Given the description of an element on the screen output the (x, y) to click on. 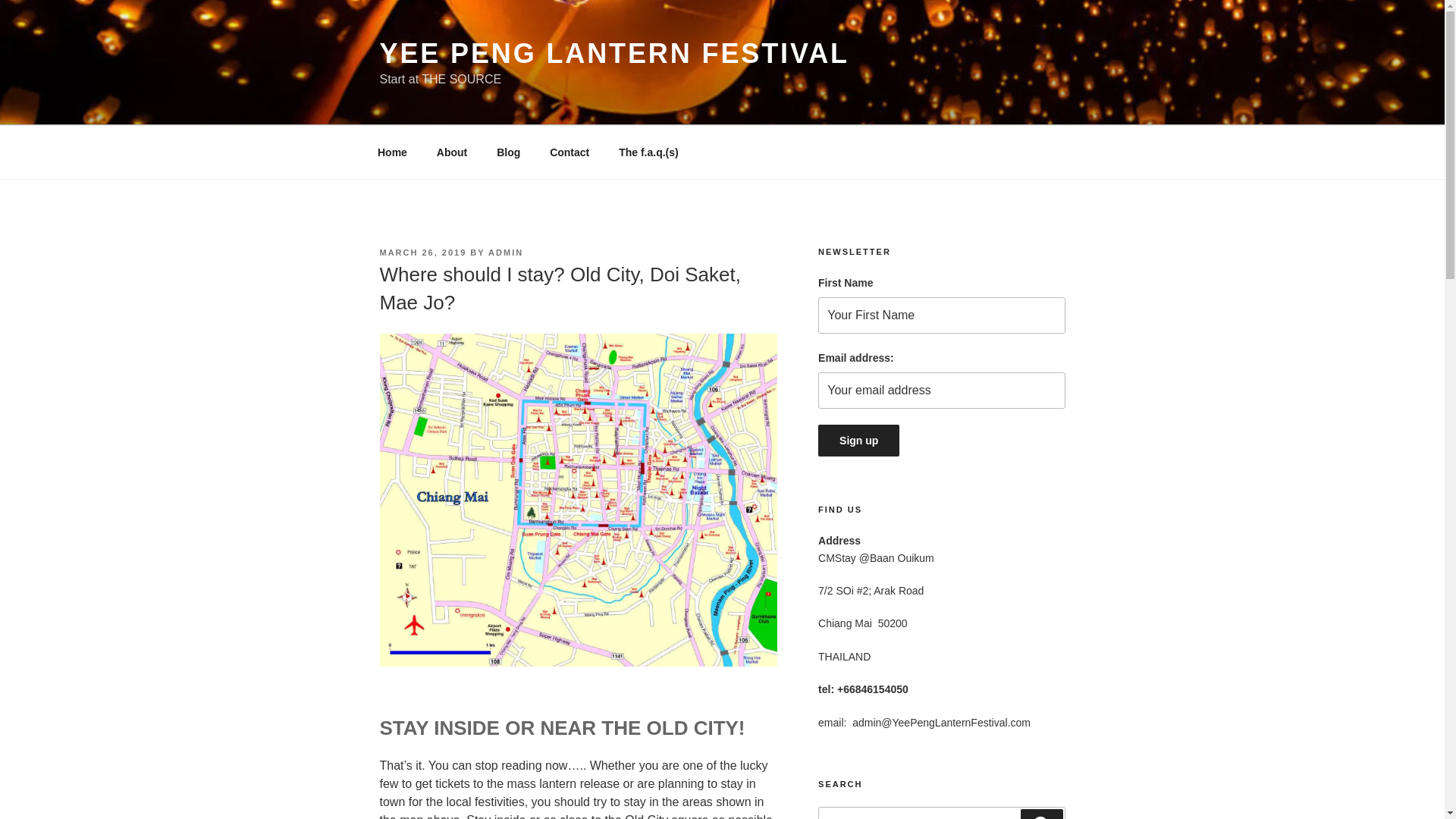
Search (1041, 814)
Sign up (858, 440)
Contact (569, 151)
YEE PENG LANTERN FESTIVAL (613, 52)
Sign up (858, 440)
MARCH 26, 2019 (421, 252)
ADMIN (504, 252)
Home (392, 151)
Blog (508, 151)
About (451, 151)
